Given the description of an element on the screen output the (x, y) to click on. 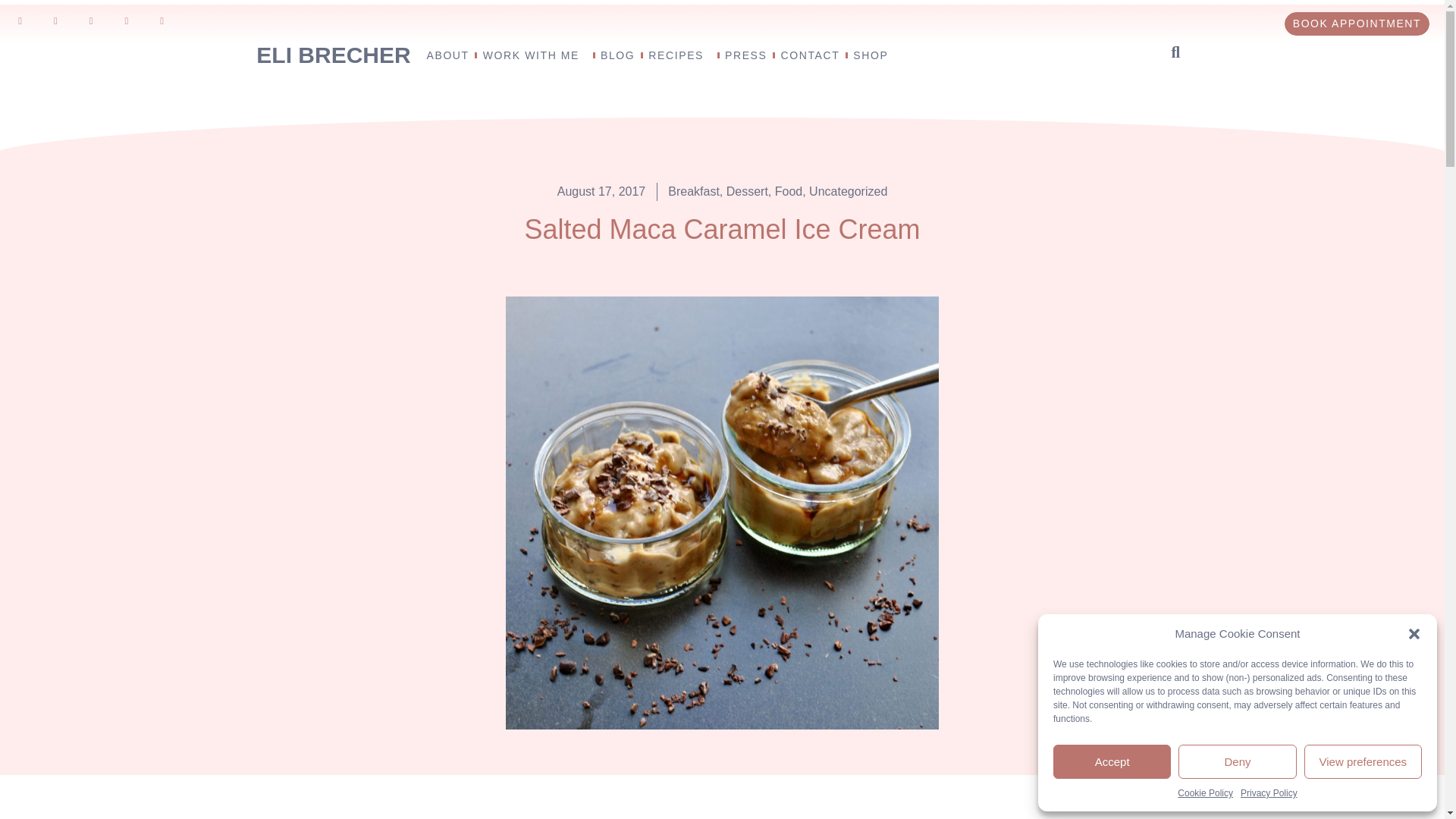
CONTACT (810, 55)
SHOP (870, 55)
Accept (1111, 761)
BOOK APPOINTMENT (1356, 23)
Deny (1236, 761)
BLOG (616, 55)
PRESS (746, 55)
RECIPES (679, 55)
ABOUT (447, 55)
ELI BRECHER (333, 51)
WORK WITH ME (534, 55)
Privacy Policy (1268, 793)
View preferences (1363, 761)
Cookie Policy (1205, 793)
